Given the description of an element on the screen output the (x, y) to click on. 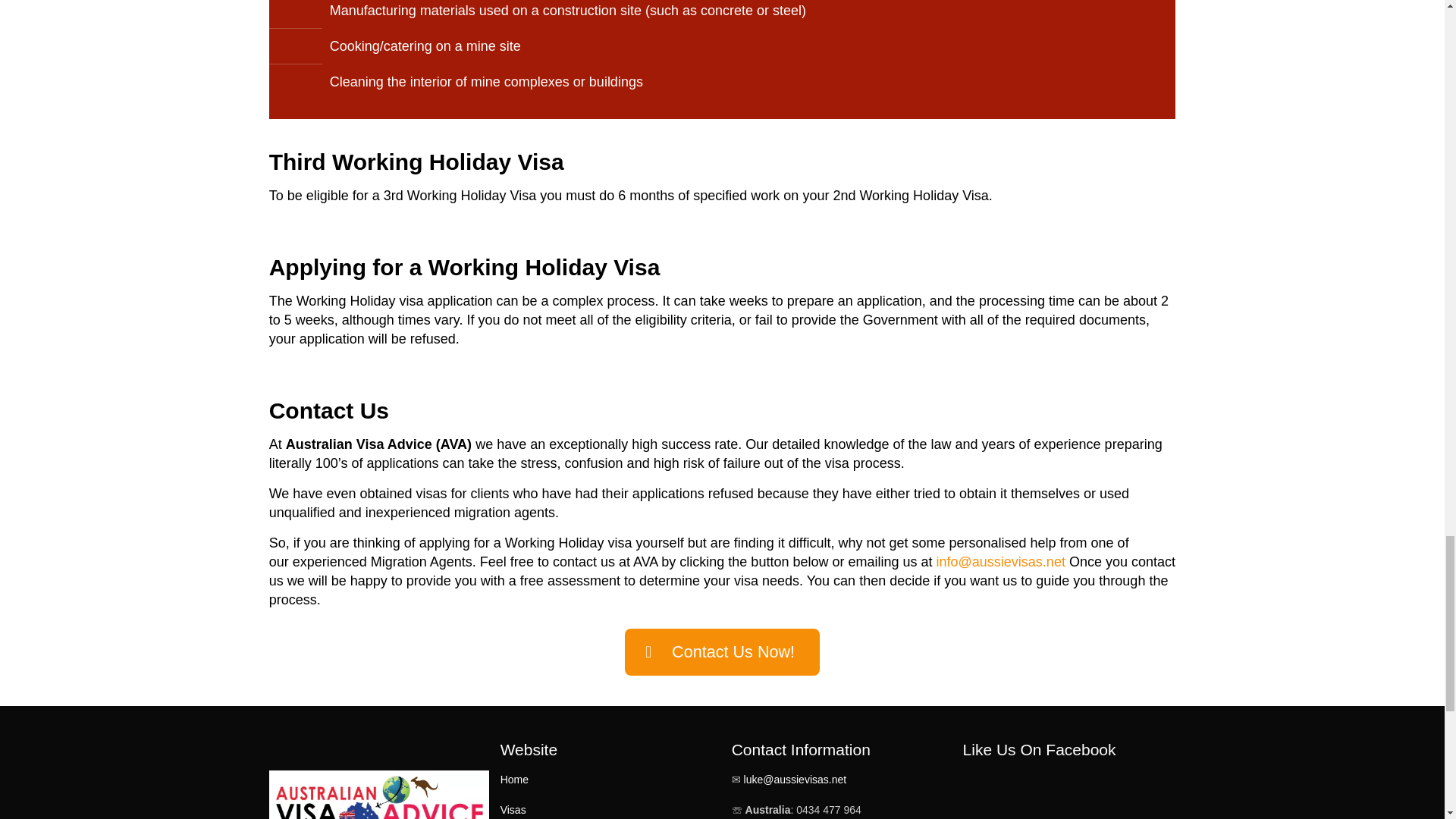
Contact Us Now! (721, 651)
Visas (512, 809)
Home (514, 779)
